Given the description of an element on the screen output the (x, y) to click on. 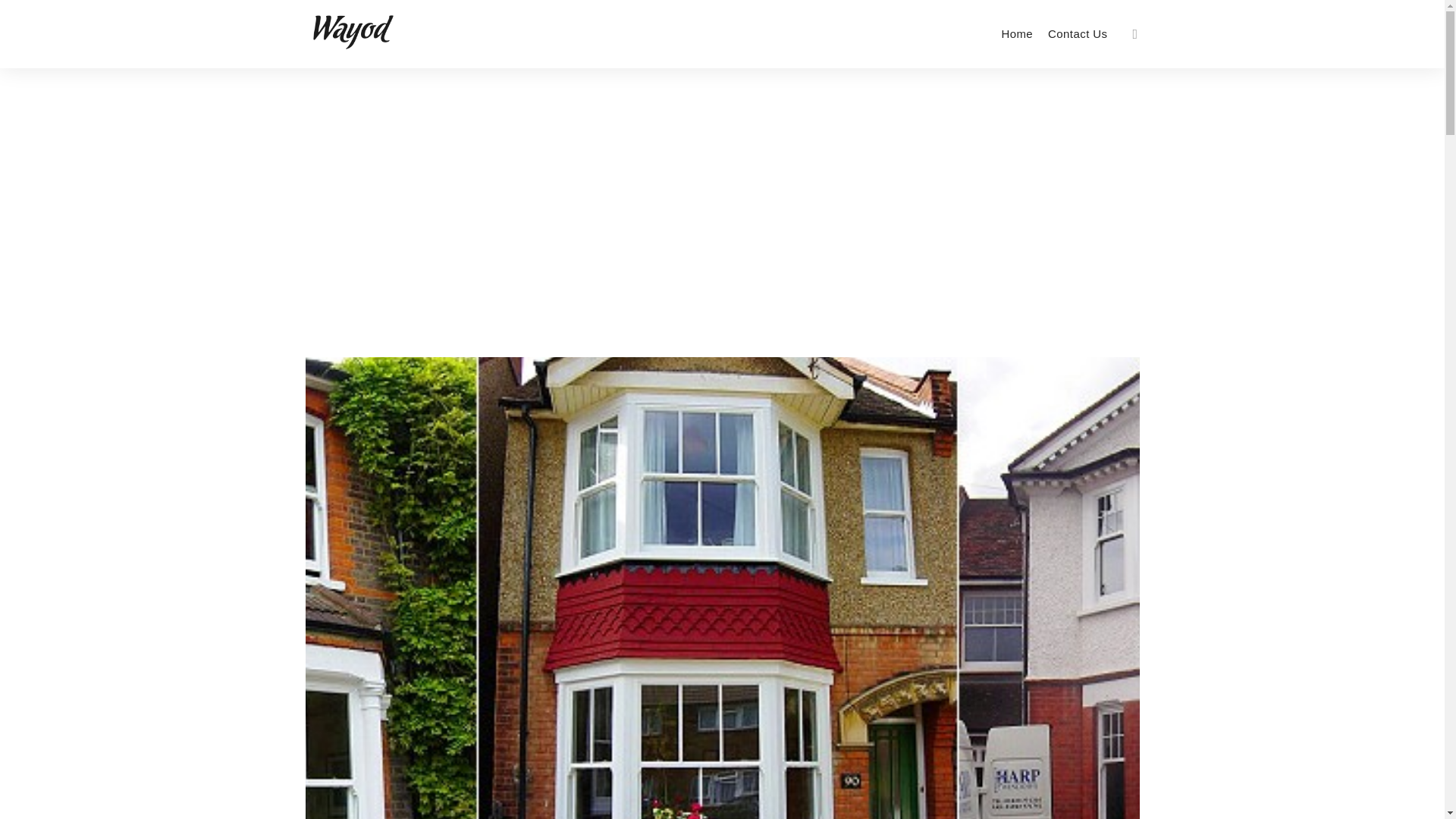
Home (1016, 33)
Contact Us (1078, 33)
Contact Us (1078, 33)
Home (1016, 33)
